Given the description of an element on the screen output the (x, y) to click on. 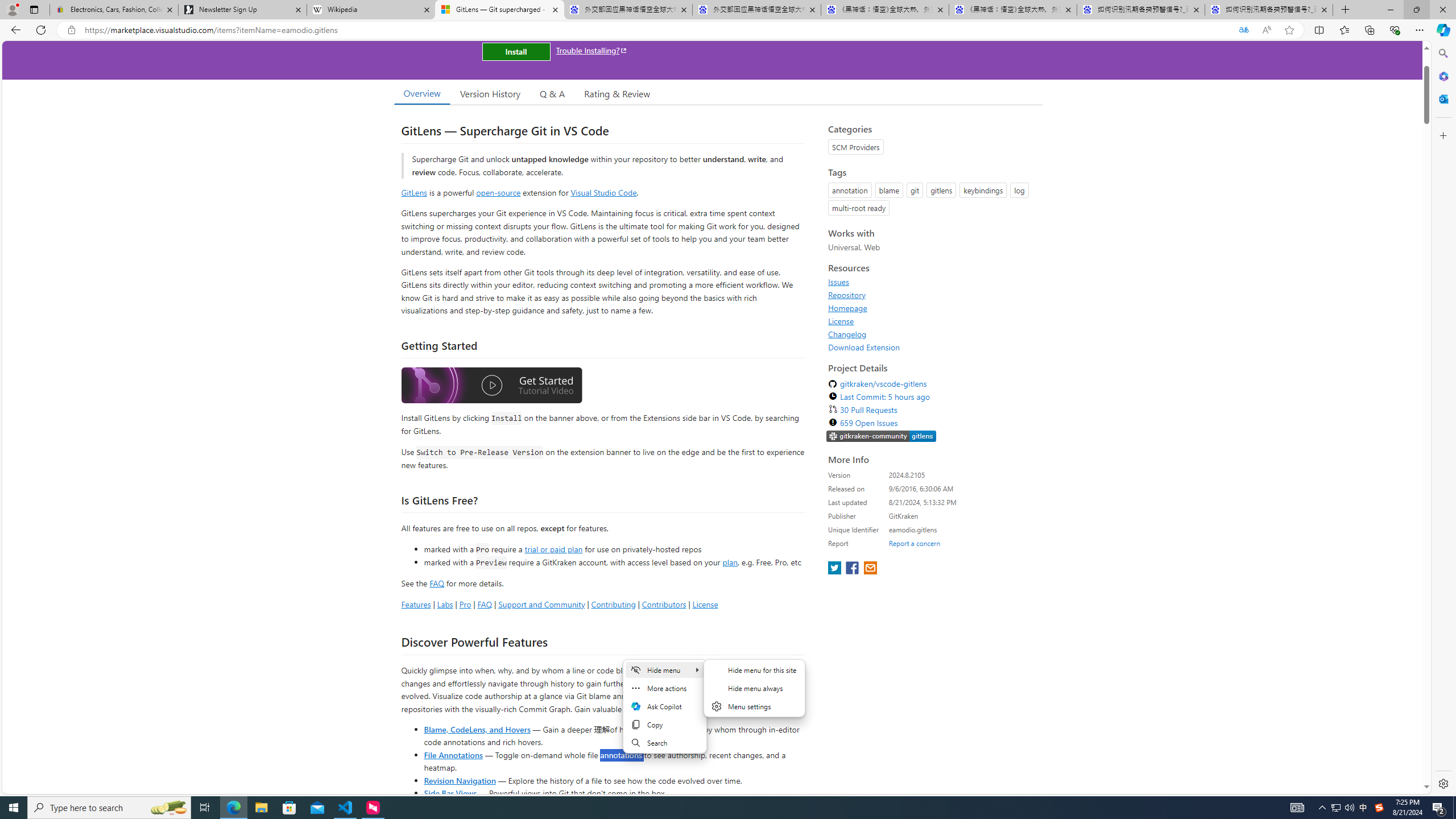
Visual Studio Code (603, 192)
Issues (838, 281)
More actions (664, 687)
Download Extension (931, 346)
Features (415, 603)
plan (730, 562)
Translated (1243, 29)
